Given the description of an element on the screen output the (x, y) to click on. 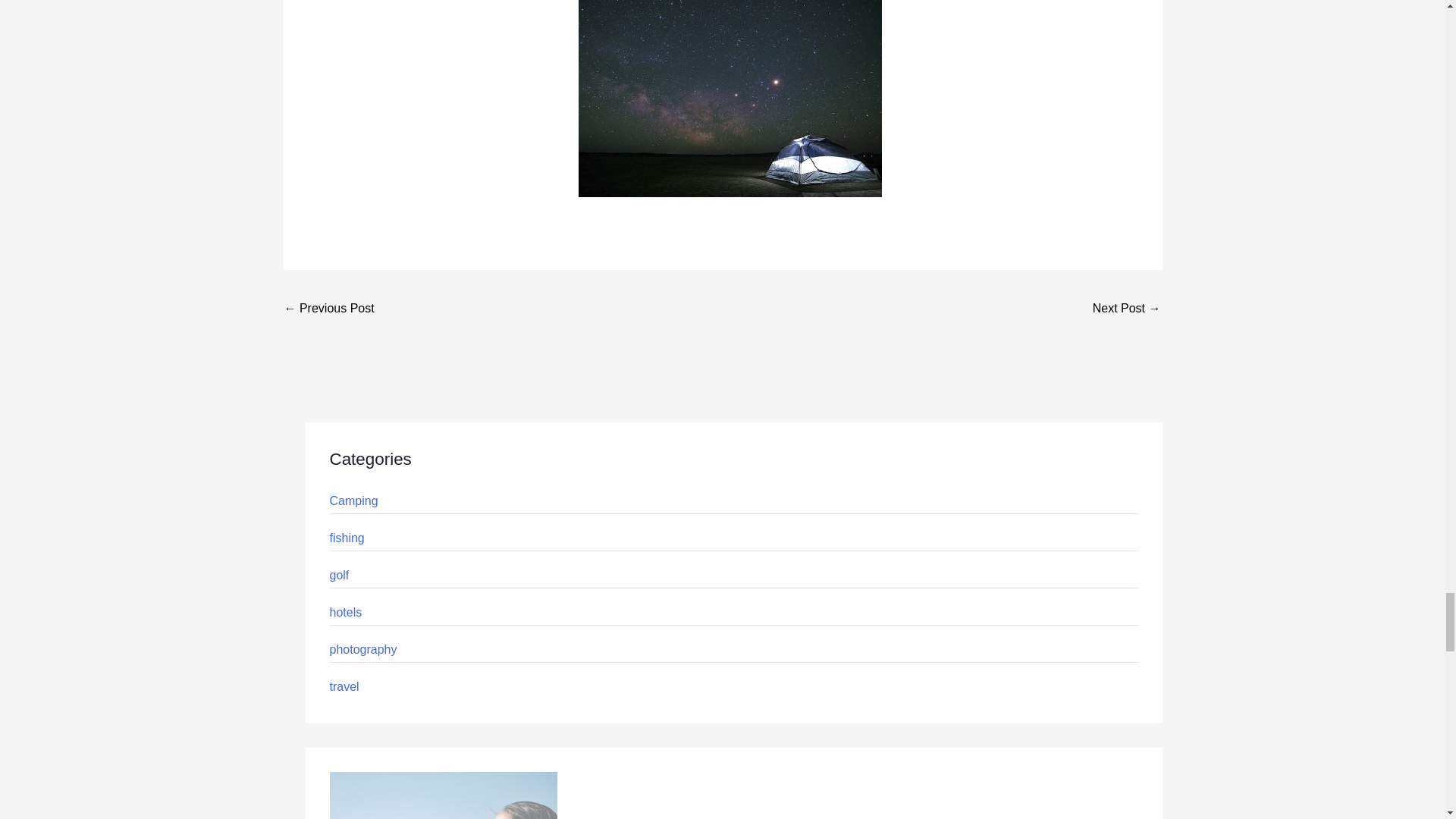
Planning A Trip? Check This Advice First! (1126, 309)
hotels (345, 612)
photography (362, 649)
Camping (353, 500)
Want To Enjoy A Hotel Stay? Read Over This! (328, 309)
golf (339, 574)
travel (343, 686)
fishing (346, 537)
